Given the description of an element on the screen output the (x, y) to click on. 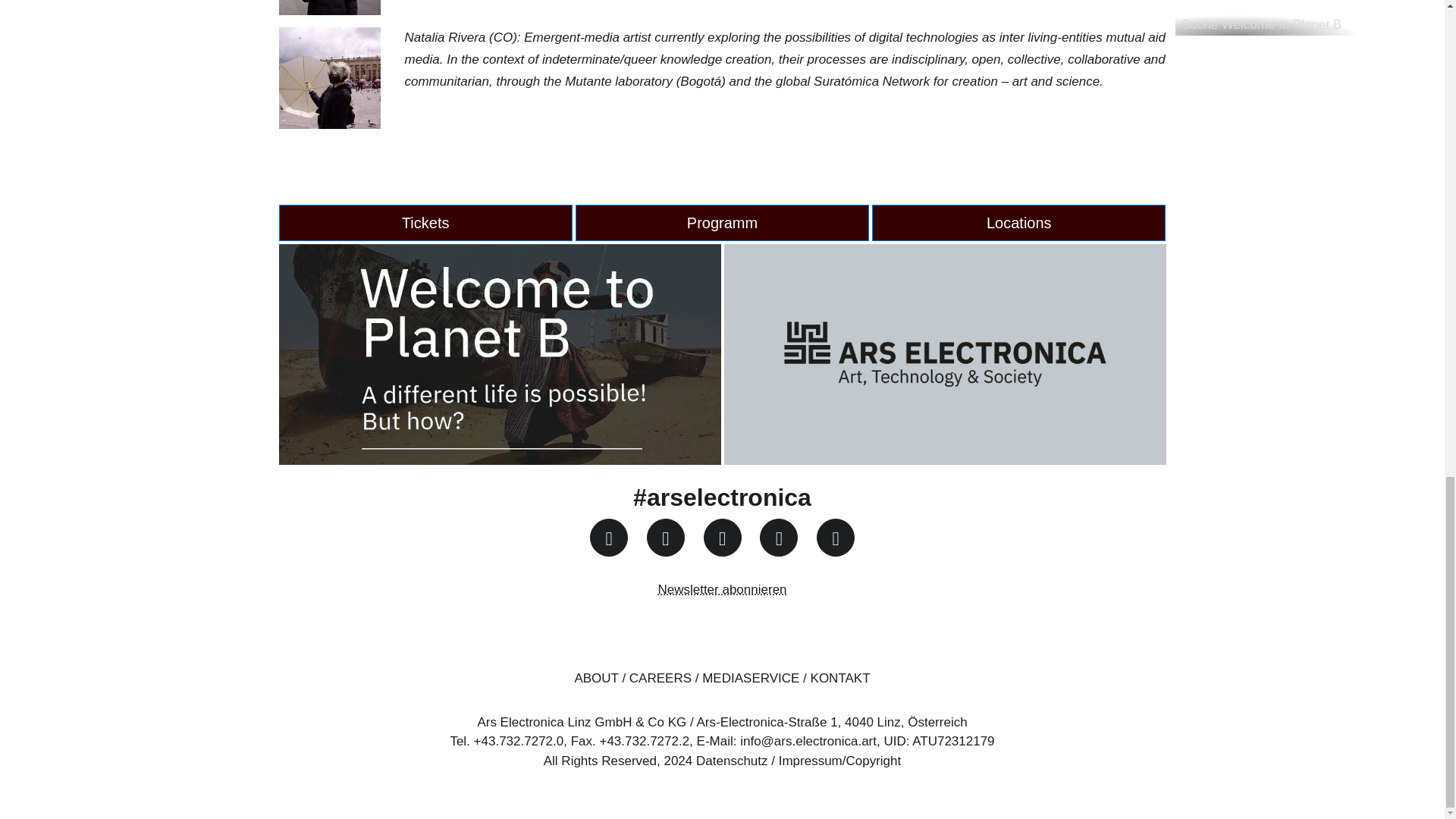
YouTube (722, 537)
Instagram (608, 537)
Facebook (665, 537)
